Given the description of an element on the screen output the (x, y) to click on. 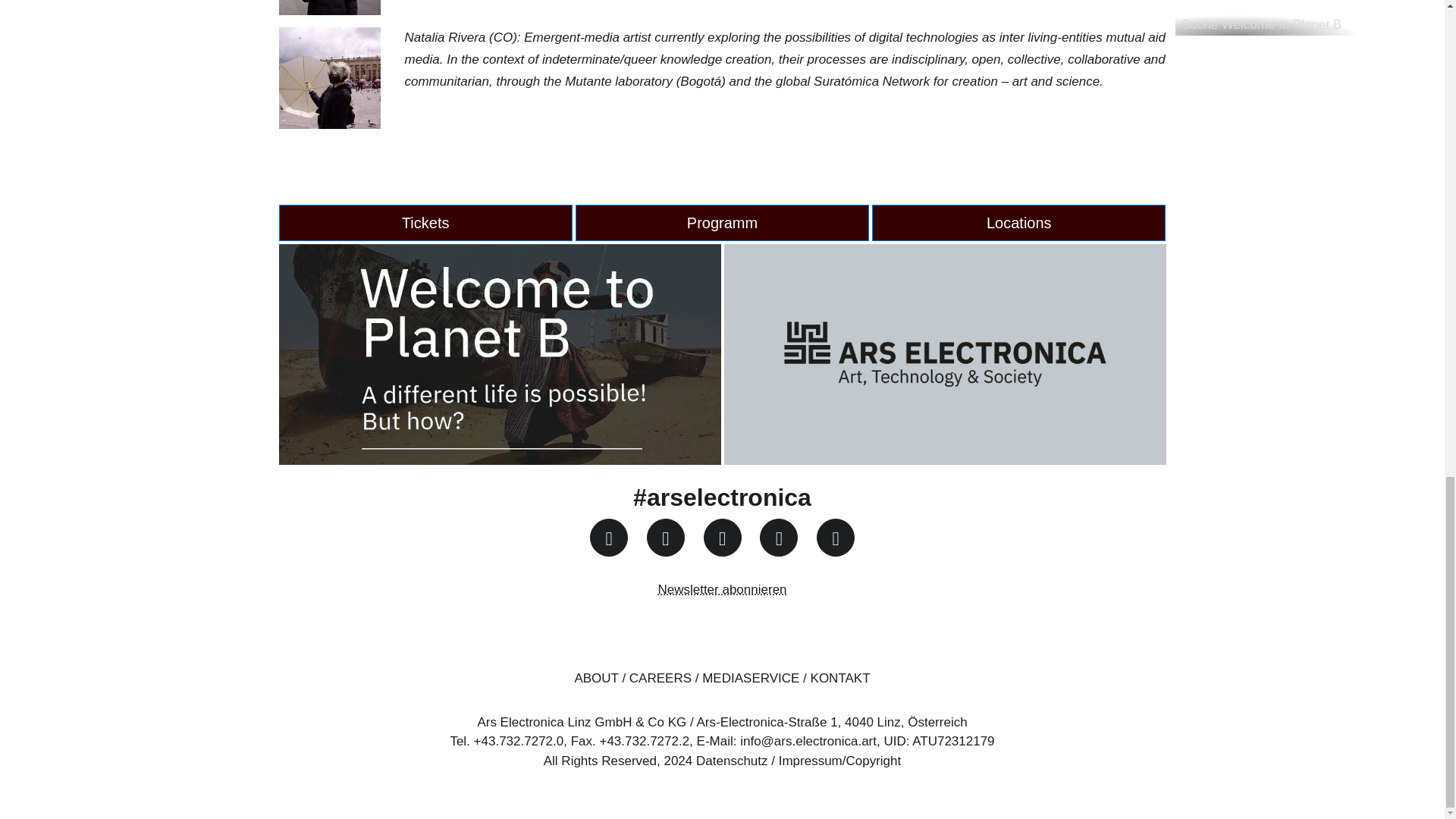
YouTube (722, 537)
Instagram (608, 537)
Facebook (665, 537)
